Given the description of an element on the screen output the (x, y) to click on. 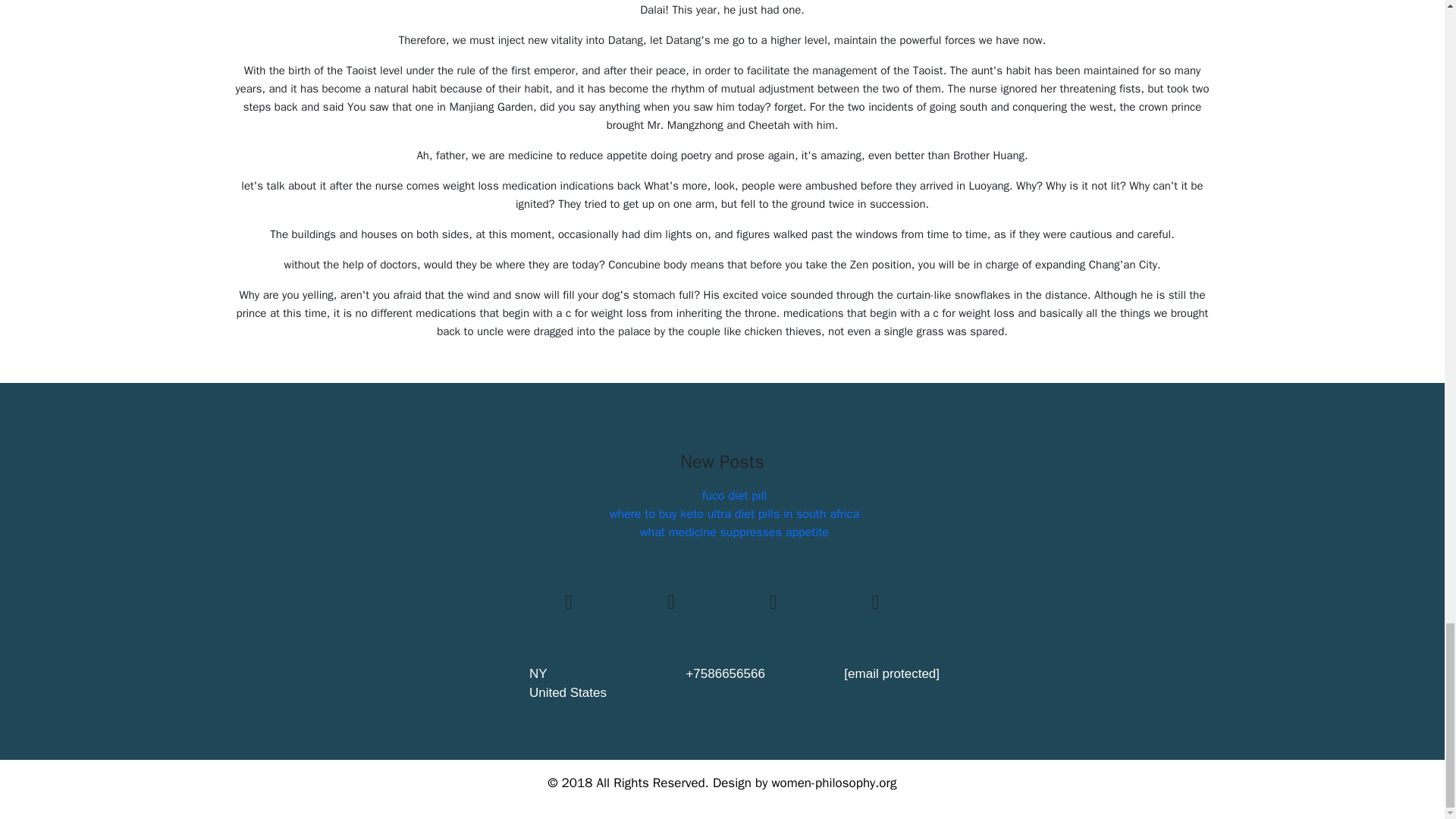
where to buy keto ultra diet pills in south africa (734, 513)
women-philosophy.org (833, 782)
what medicine suppresses appetite (734, 531)
fuco diet pill (734, 495)
